Given the description of an element on the screen output the (x, y) to click on. 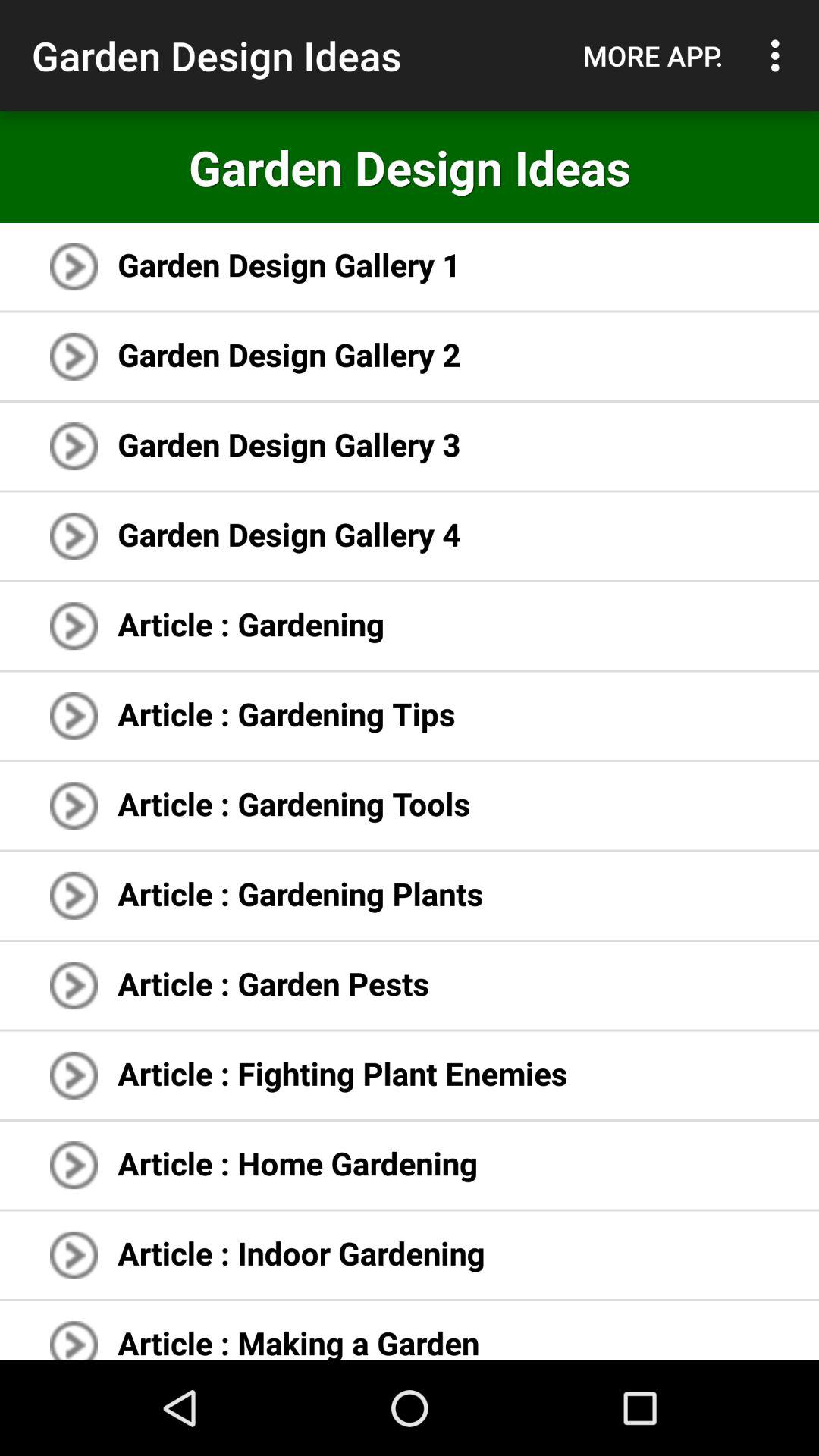
press item to the right of the garden design ideas app (653, 55)
